Given the description of an element on the screen output the (x, y) to click on. 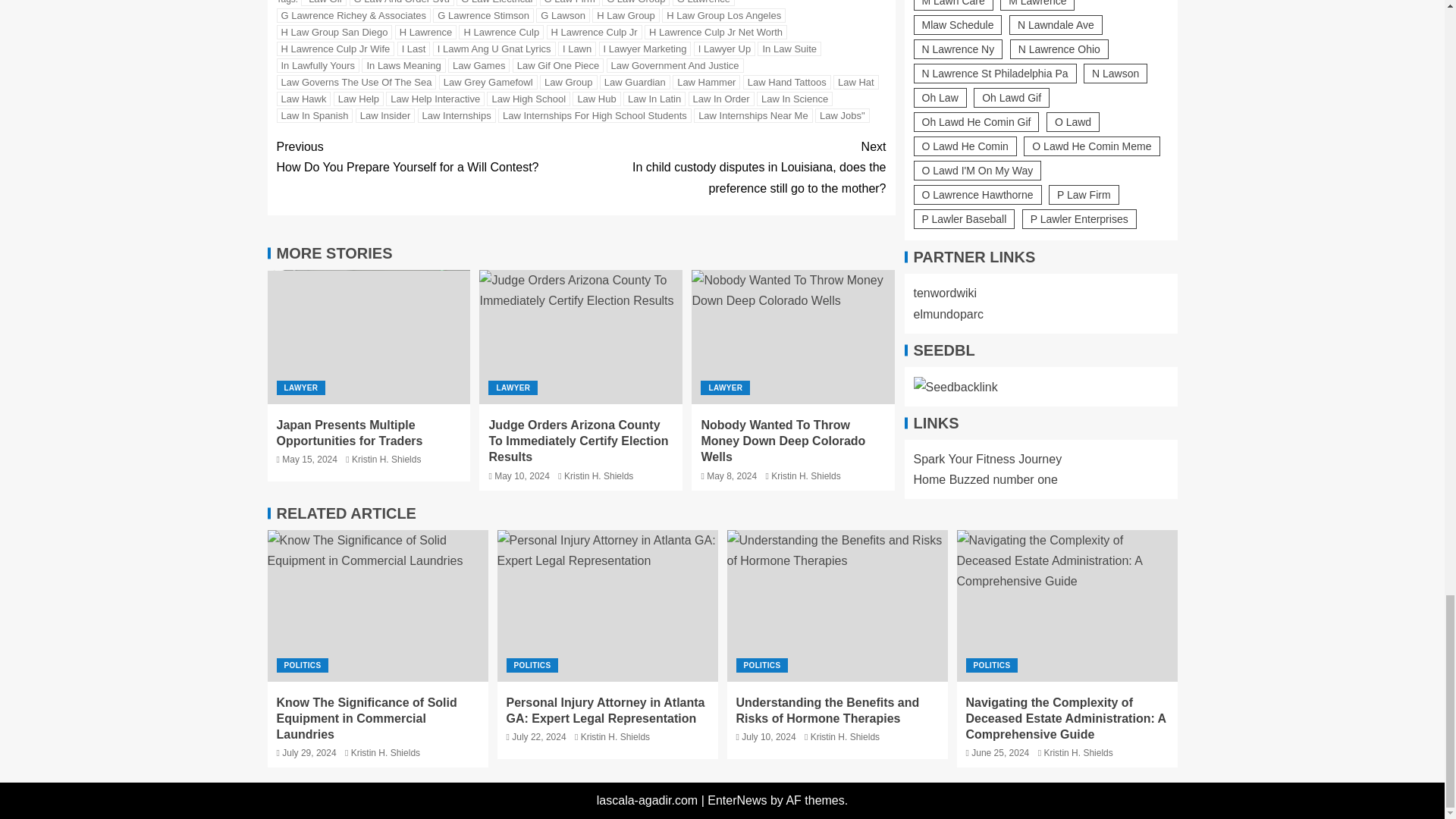
Nobody Wanted To Throw Money Down Deep Colorado Wells (793, 337)
G Lawrence (703, 2)
Understanding the Benefits and Risks of Hormone Therapies (836, 605)
G Law Firm (569, 2)
G Law Electrical (497, 2)
"Law Gif (324, 2)
G Law And Order Svu (401, 2)
H Lawrence (425, 32)
H Law Group (625, 15)
G Lawrence Stimson (483, 15)
G Law Group (635, 2)
H Law Group San Diego (333, 32)
H Law Group Los Angeles (724, 15)
G Lawson (562, 15)
